Given the description of an element on the screen output the (x, y) to click on. 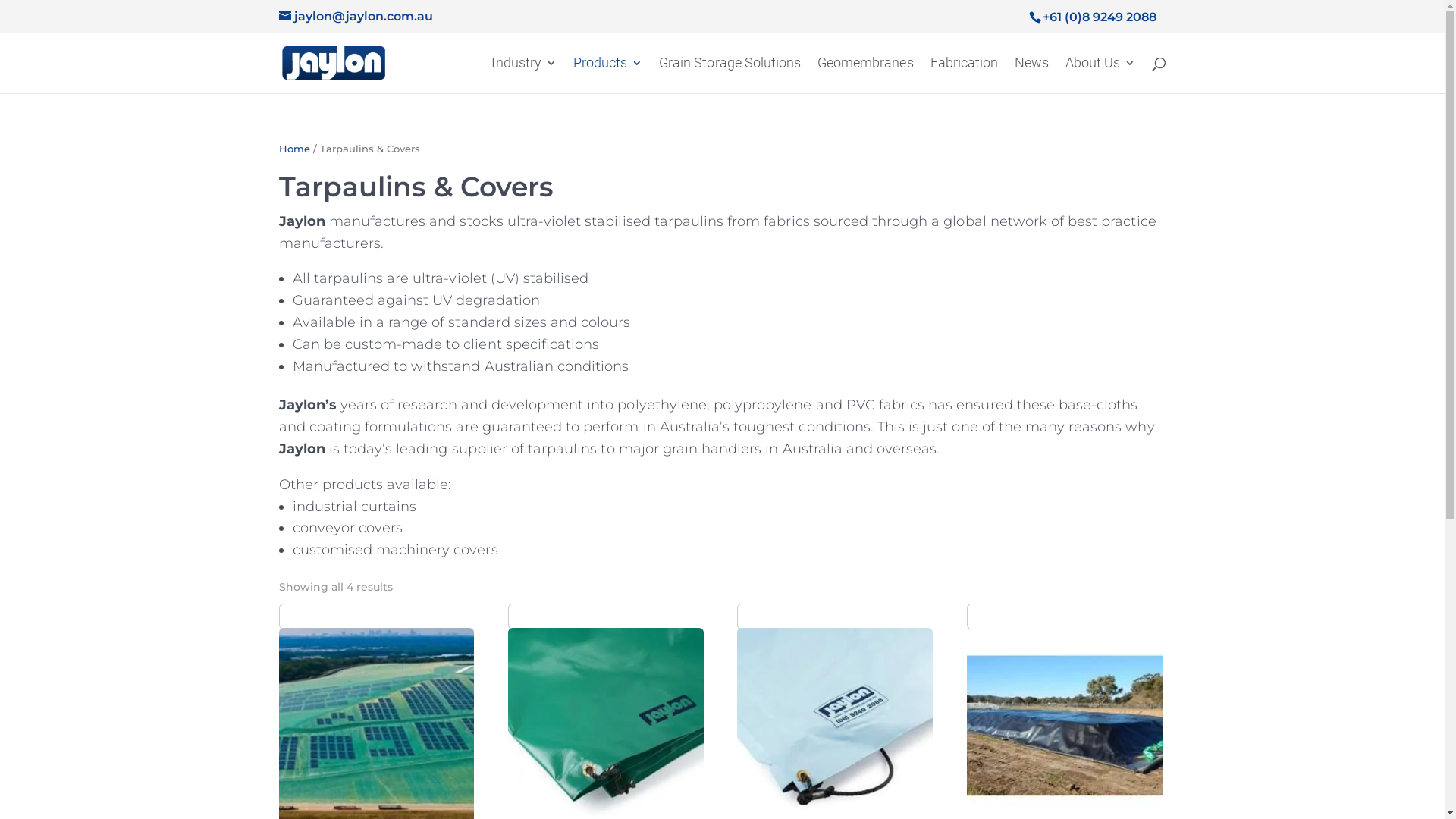
Grain Storage Solutions Element type: text (729, 75)
Fabrication Element type: text (963, 75)
Geomembranes Element type: text (865, 75)
+61 (0)8 9249 2088 Element type: text (1098, 16)
jaylon@jaylon.com.au Element type: text (356, 16)
Home Element type: text (294, 148)
Products Element type: text (607, 75)
Industry Element type: text (523, 75)
About Us Element type: text (1100, 75)
News Element type: text (1031, 75)
